Given the description of an element on the screen output the (x, y) to click on. 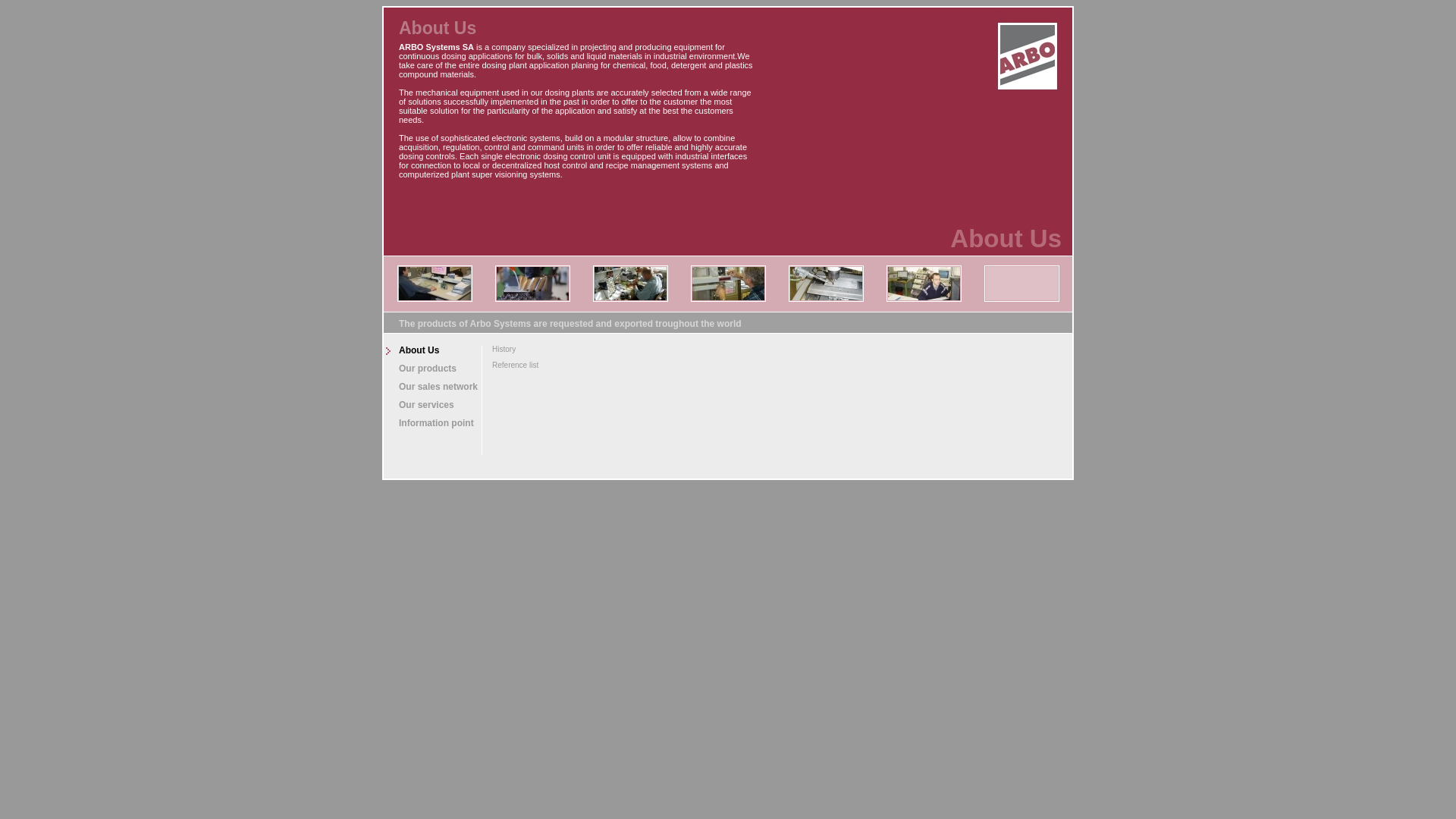
History Element type: text (512, 349)
Our sales network Element type: text (432, 386)
Our products Element type: text (432, 368)
About Us Element type: text (432, 350)
  Element type: text (1027, 54)
Our services Element type: text (432, 404)
Reference list Element type: text (512, 365)
Information point Element type: text (432, 423)
